Given the description of an element on the screen output the (x, y) to click on. 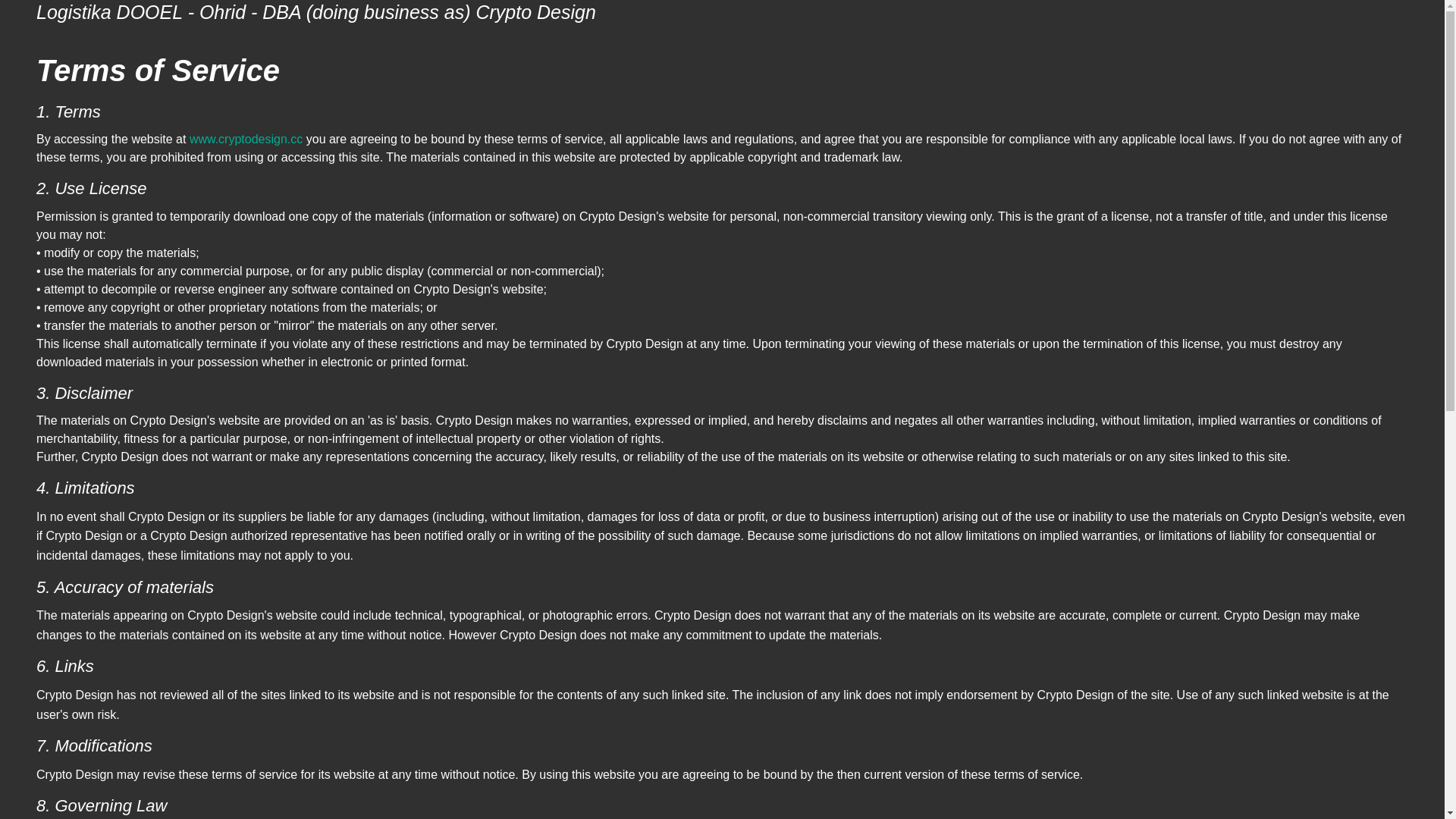
www.cryptodesign.cc (245, 138)
